Given the description of an element on the screen output the (x, y) to click on. 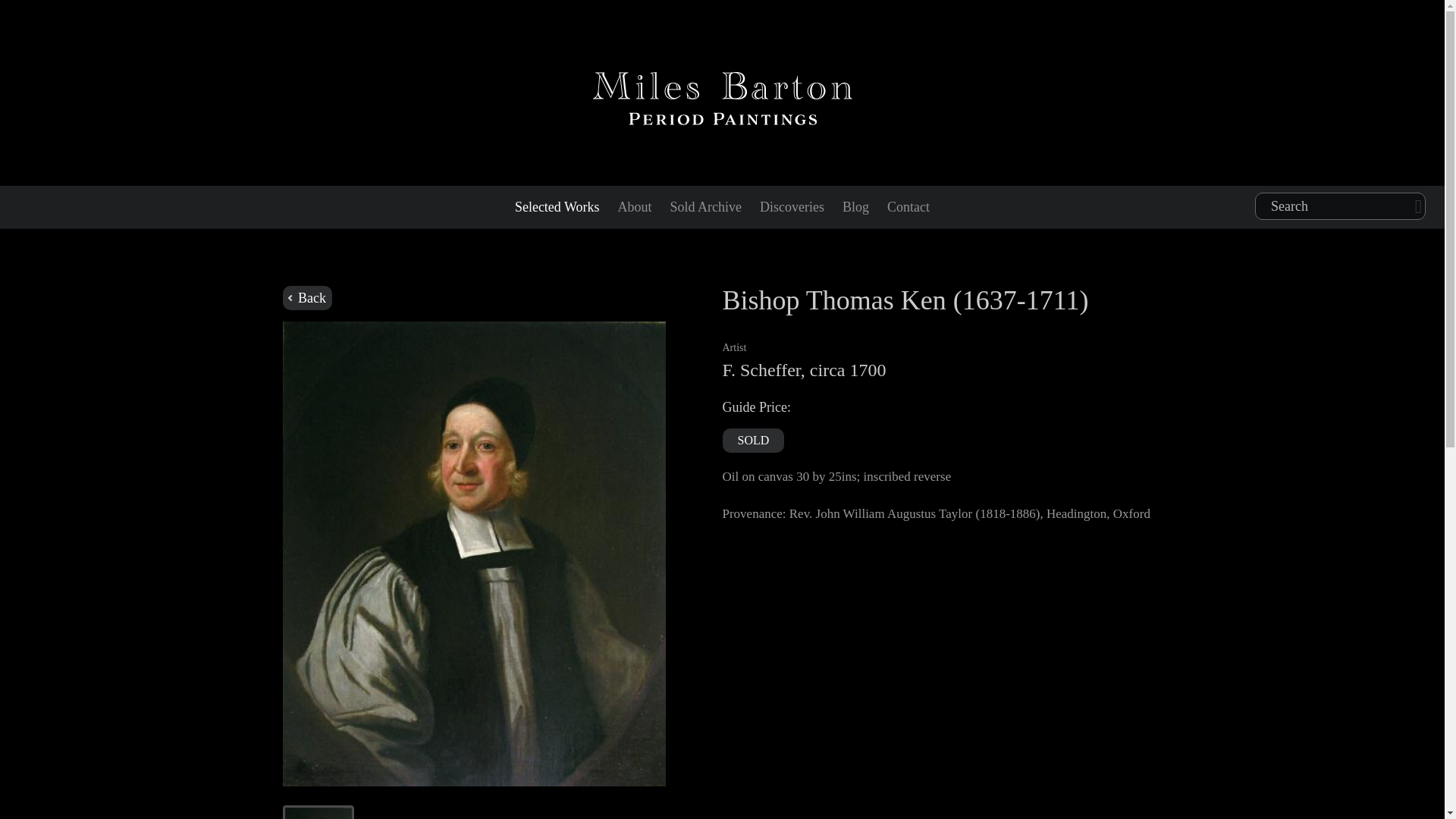
About (634, 207)
Selected Works (556, 207)
Sold Archive (706, 207)
Back (306, 297)
Contact (908, 207)
Blog (854, 207)
Discoveries (791, 207)
SOLD (753, 440)
